Given the description of an element on the screen output the (x, y) to click on. 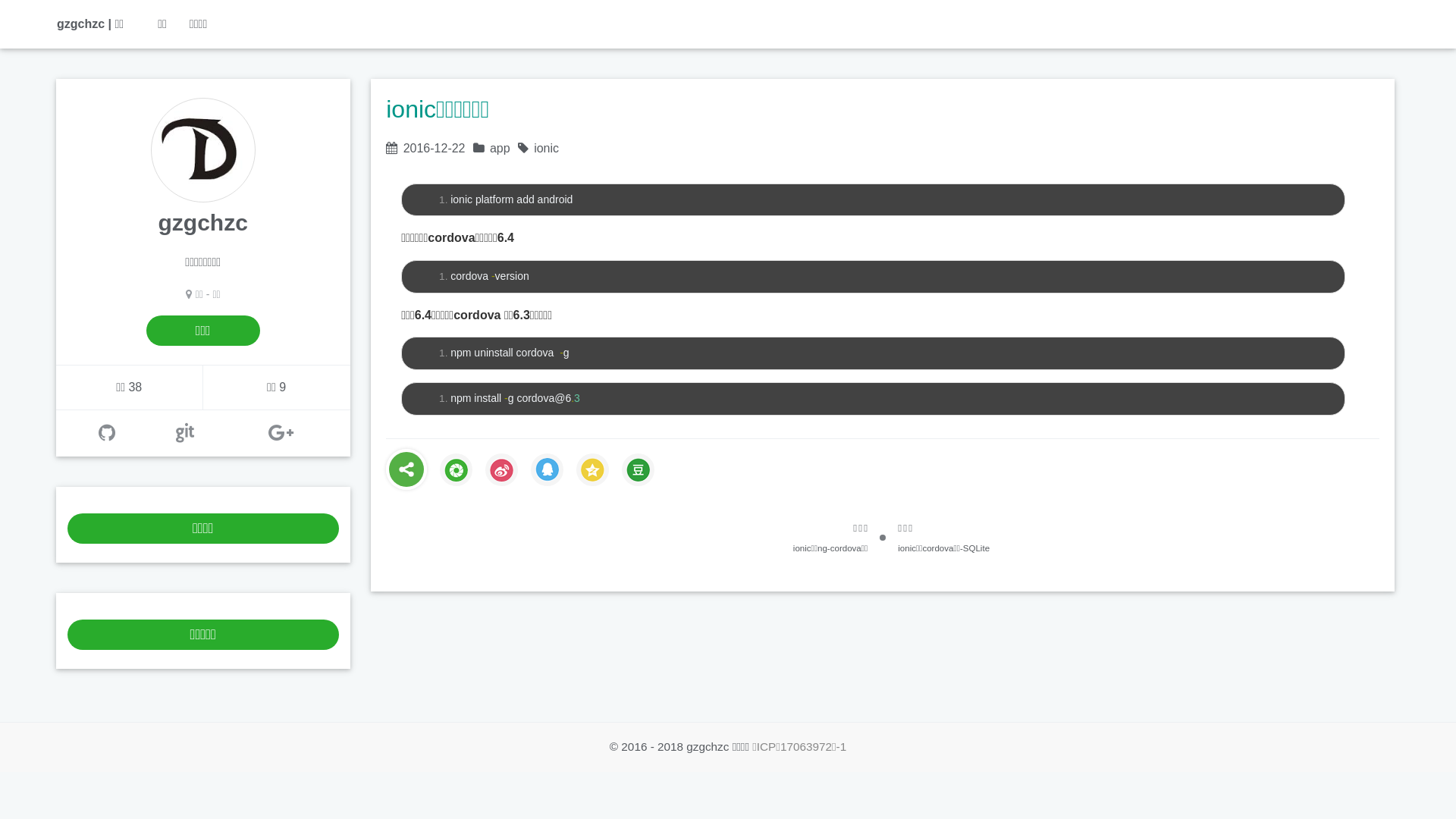
weixin Element type: text (455, 469)
2016-12-22 Element type: text (434, 147)
douban Element type: text (637, 469)
app Element type: text (499, 147)
google+ Element type: hover (280, 432)
qZone Element type: text (592, 469)
github Element type: hover (106, 432)
OSC Element type: hover (184, 432)
ionic Element type: text (545, 147)
tQQ Element type: text (546, 469)
sina Element type: text (501, 469)
